Given the description of an element on the screen output the (x, y) to click on. 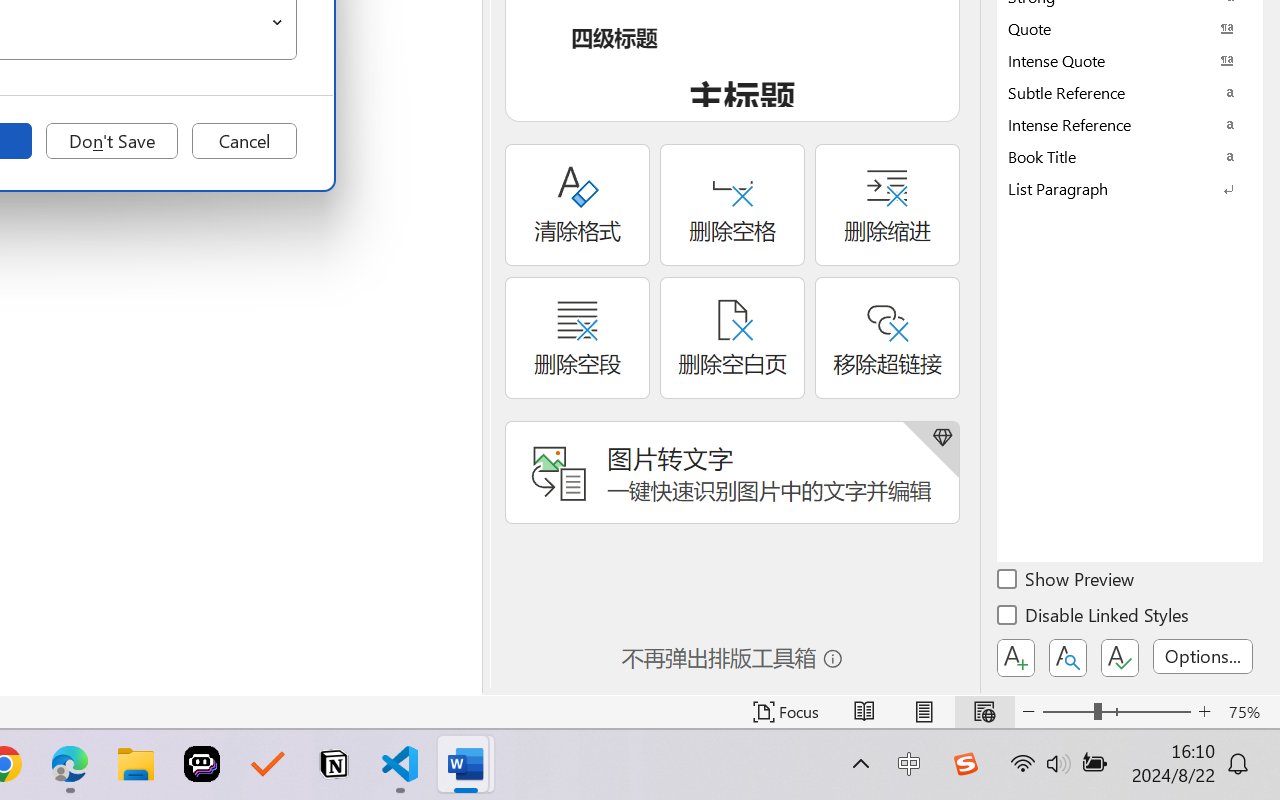
Show Preview (1067, 582)
Cancel (244, 141)
Options... (1203, 656)
Zoom (1116, 712)
Class: NetUIButton (1119, 657)
Web Layout (984, 712)
Focus  (786, 712)
